Given the description of an element on the screen output the (x, y) to click on. 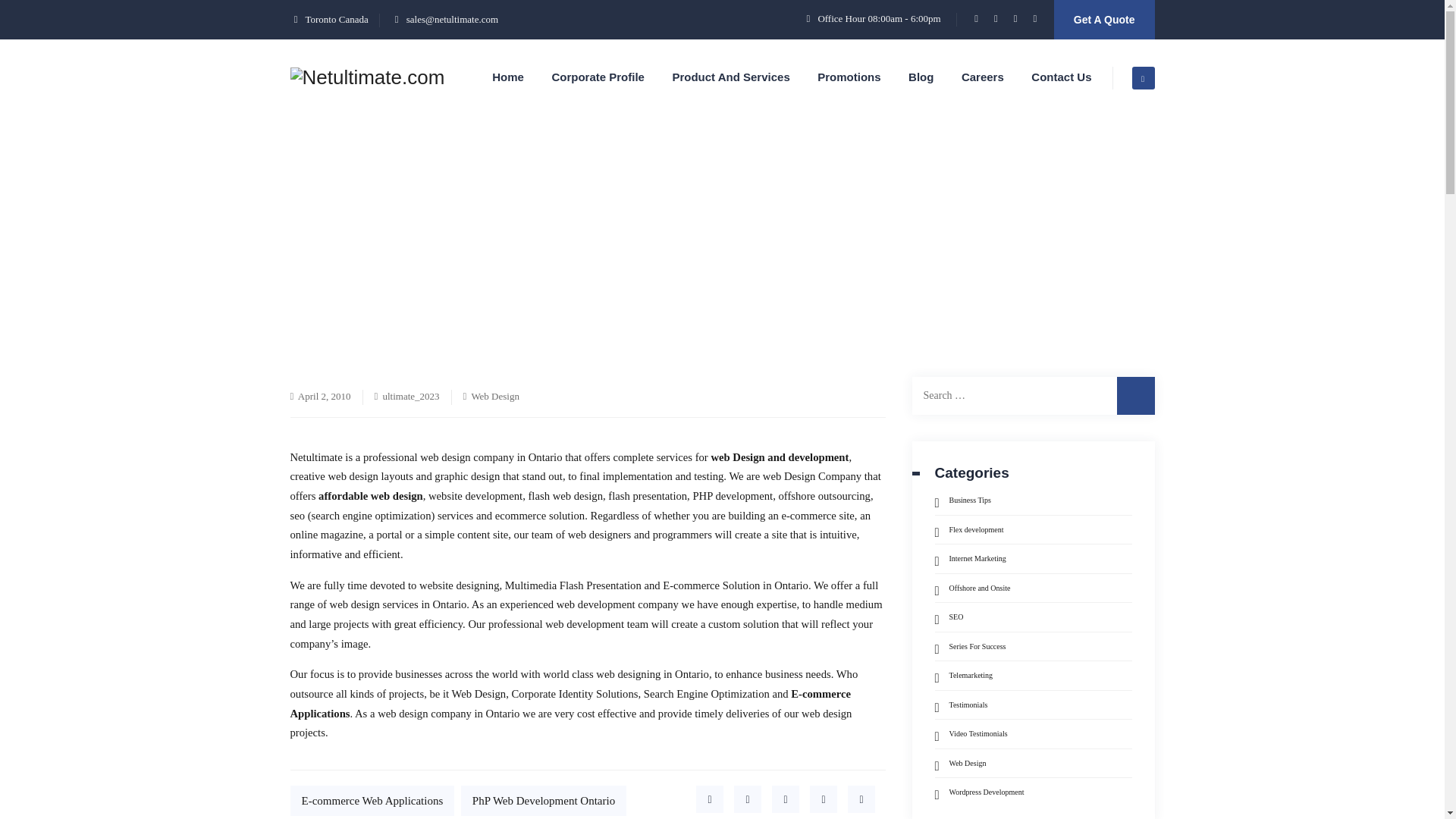
Careers (982, 77)
Product And Services (730, 77)
Blog (544, 259)
  Home (485, 259)
Search (1135, 395)
Go to Blog. (544, 259)
Web Design (613, 259)
Get A Quote (1104, 19)
affordable web design (370, 495)
Contact Us (1060, 77)
